Given the description of an element on the screen output the (x, y) to click on. 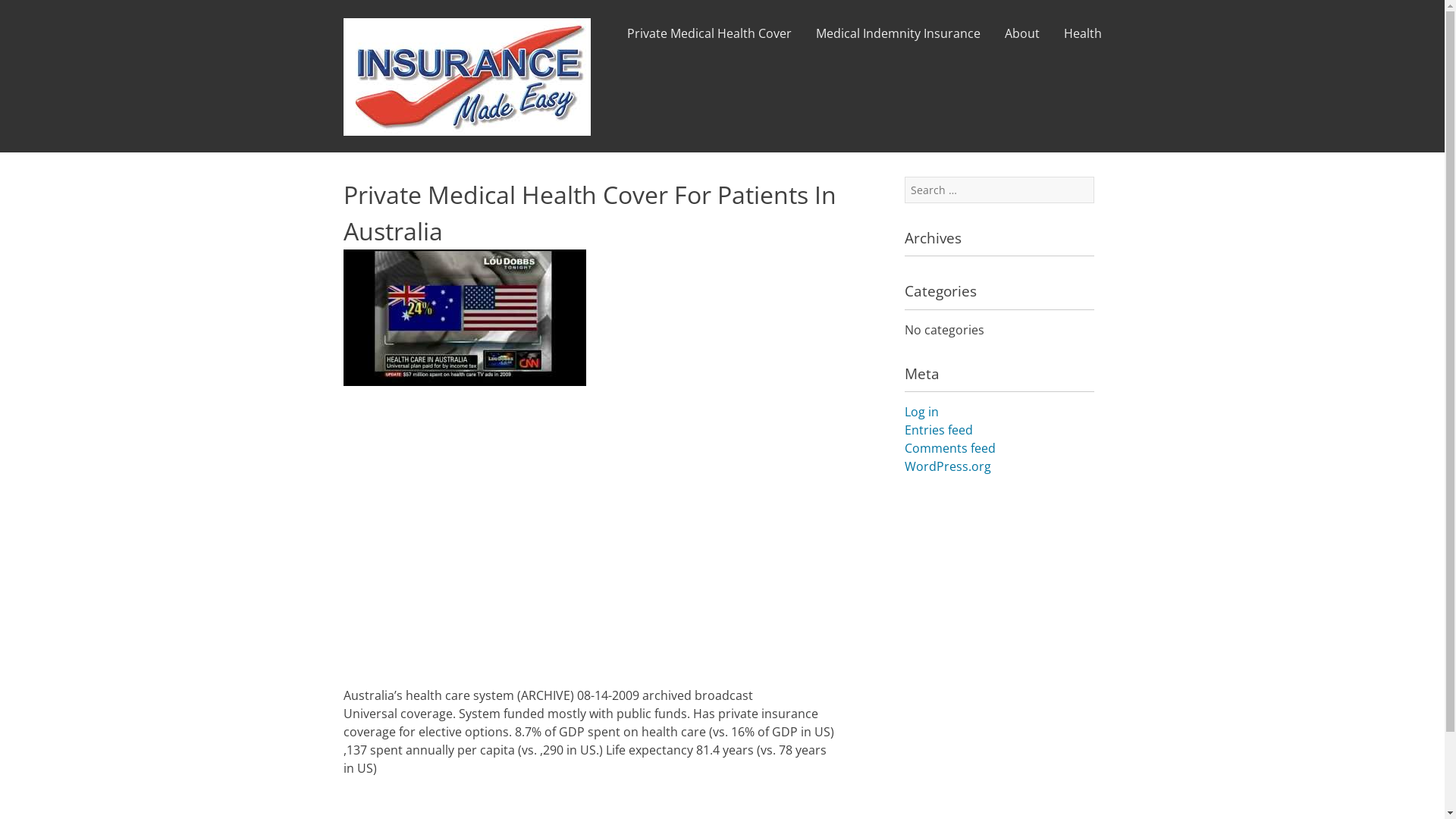
Medical Indemnity Insurance Element type: text (897, 39)
Private Medical Health Cover Element type: text (708, 39)
Health Element type: text (1082, 39)
Log in Element type: text (920, 411)
About Element type: text (1021, 39)
Skip to content Element type: text (602, 23)
WordPress.org Element type: text (946, 466)
Search Element type: text (31, 12)
Comments feed Element type: text (948, 447)
Entries feed Element type: text (937, 429)
